Given the description of an element on the screen output the (x, y) to click on. 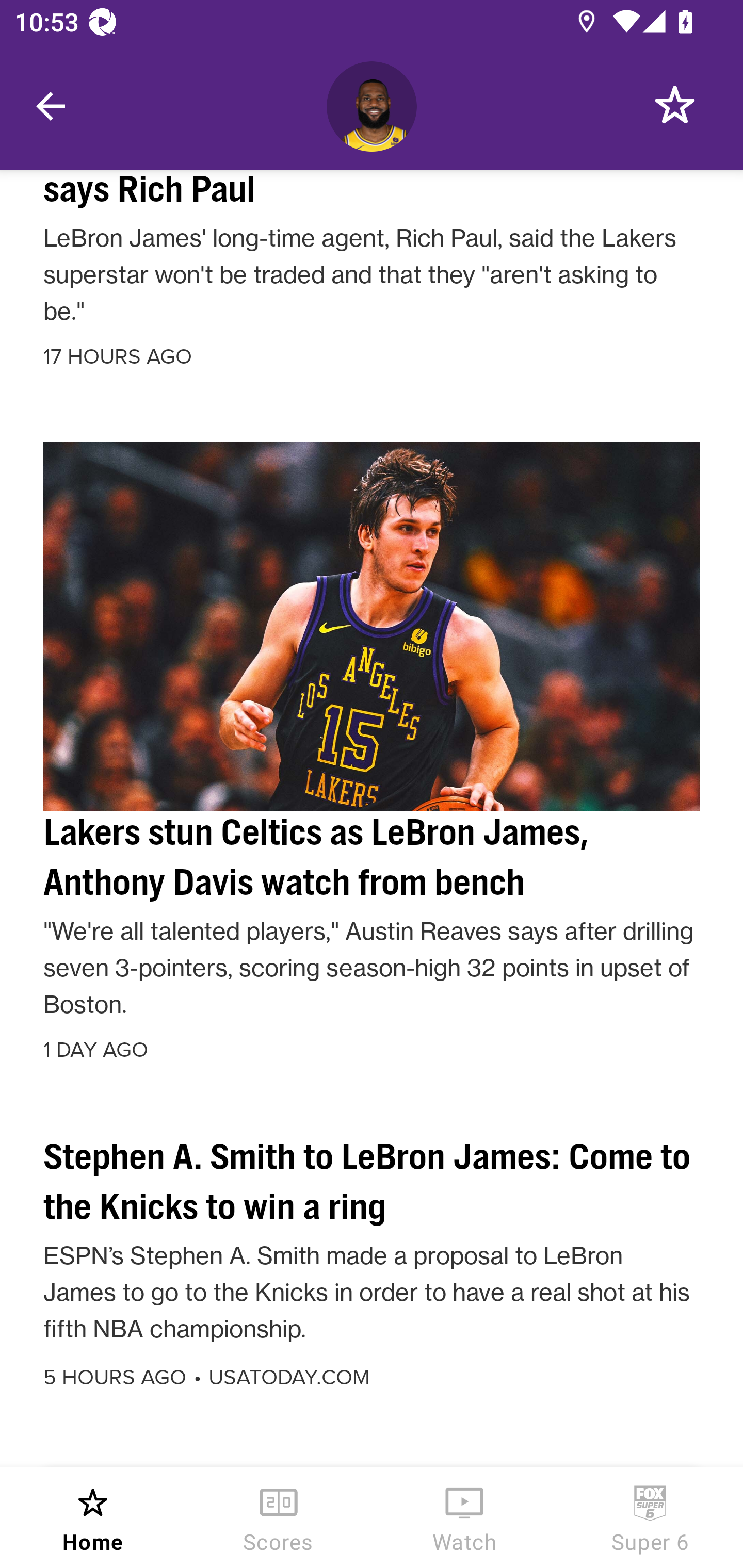
Navigate up (50, 106)
Scores (278, 1517)
Watch (464, 1517)
Super 6 (650, 1517)
